Given the description of an element on the screen output the (x, y) to click on. 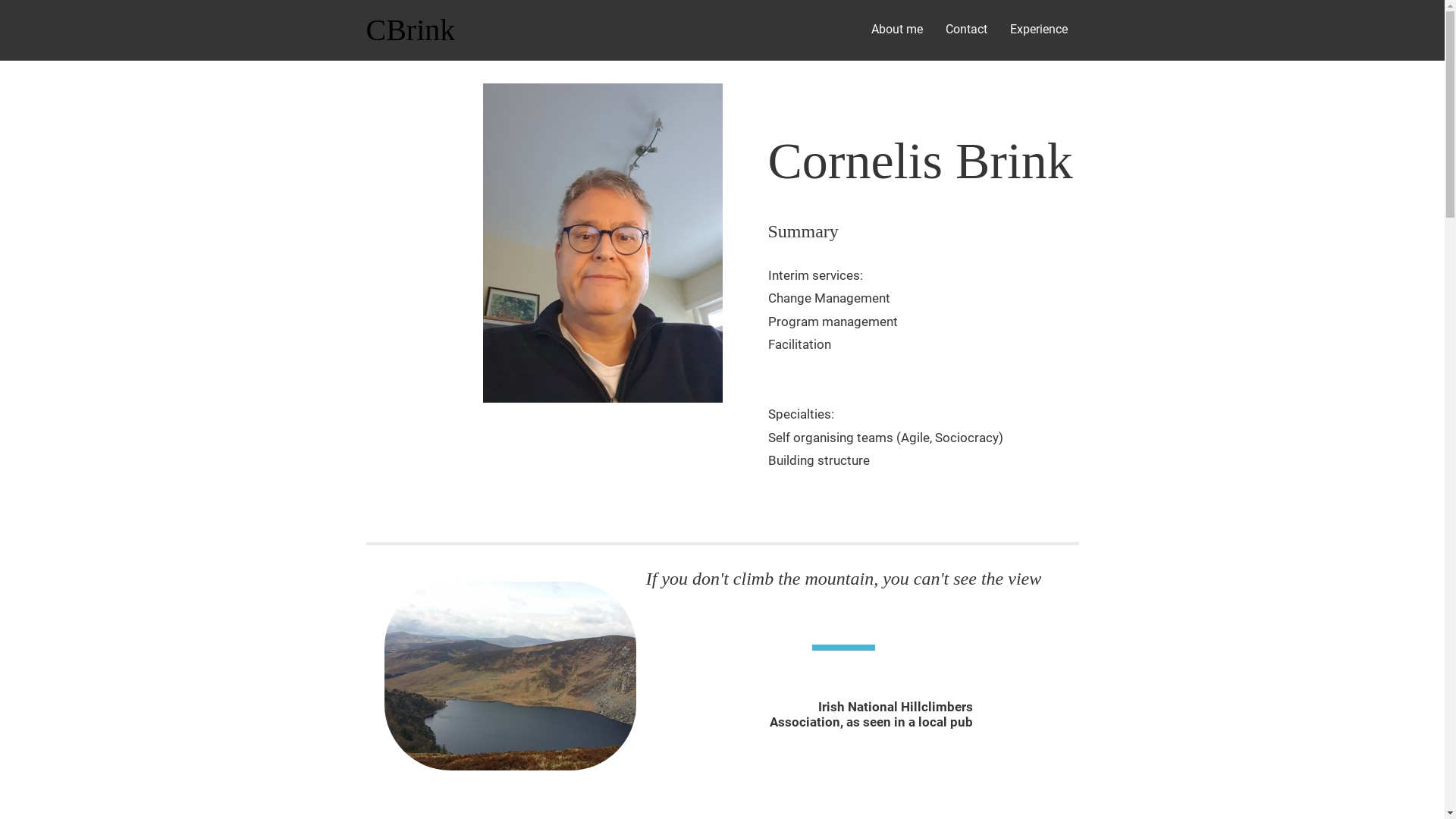
Experience Element type: text (1037, 29)
Contact Element type: text (966, 29)
About me Element type: text (896, 29)
